Given the description of an element on the screen output the (x, y) to click on. 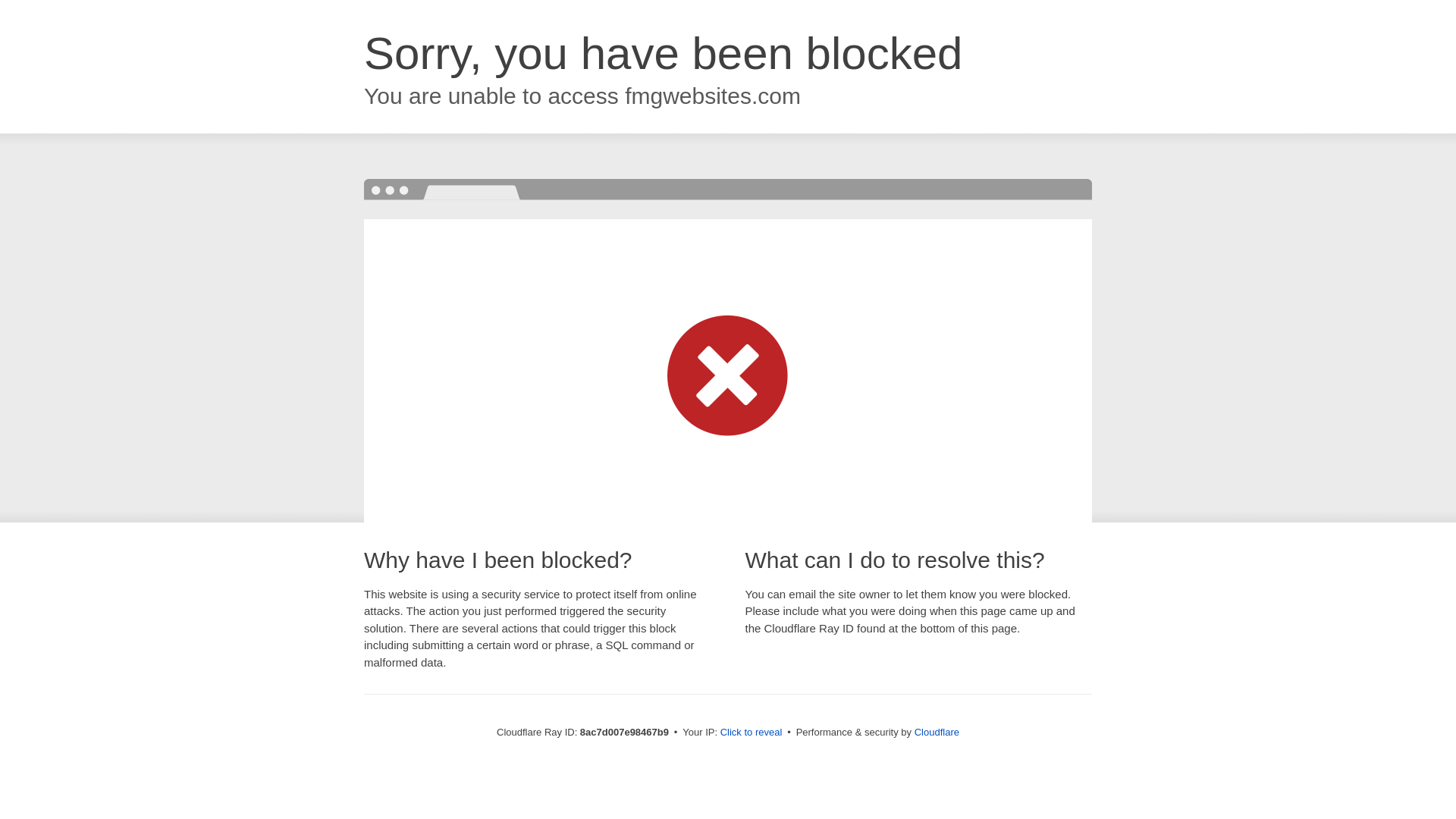
Click to reveal (751, 732)
Cloudflare (936, 731)
